Given the description of an element on the screen output the (x, y) to click on. 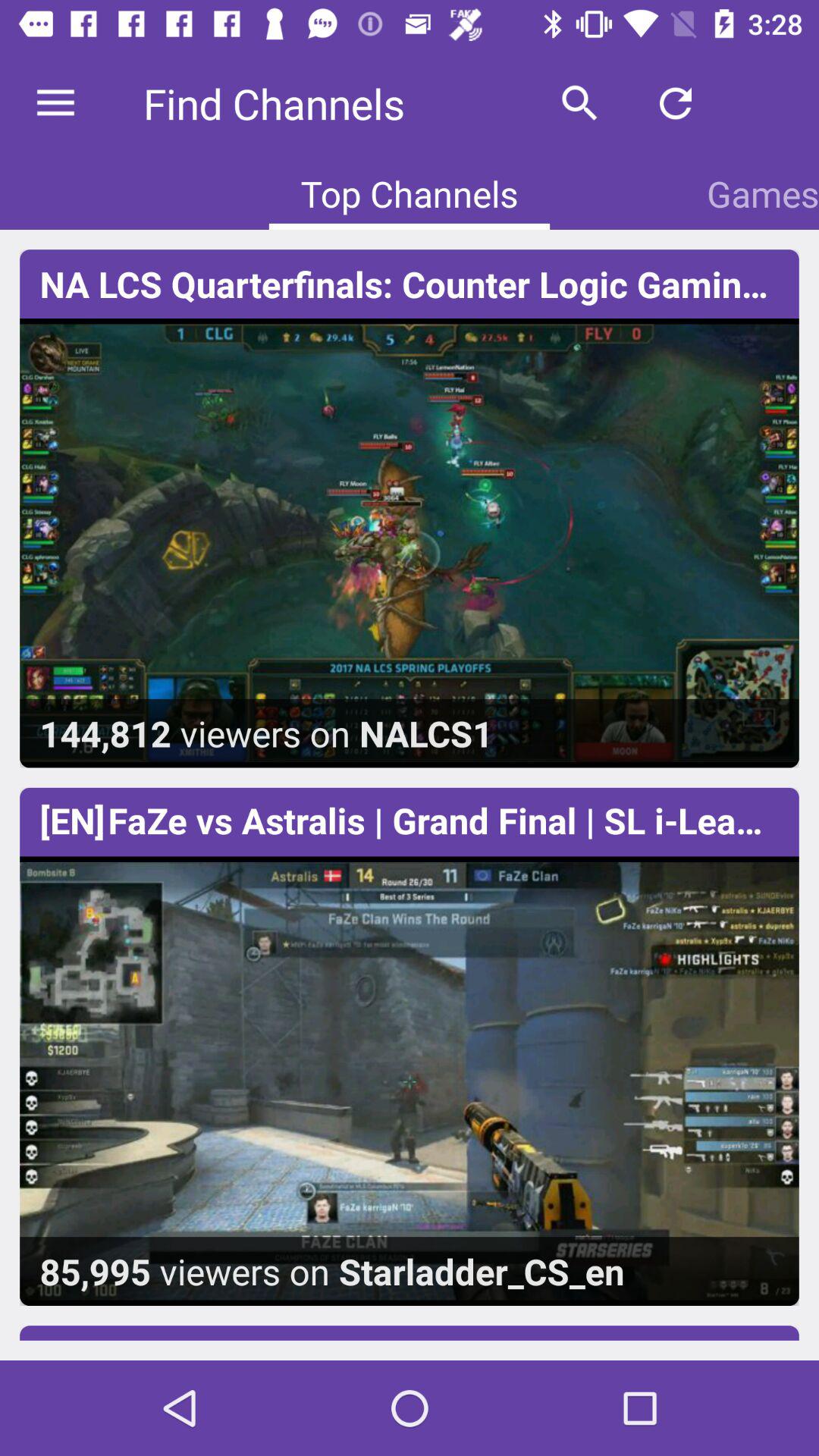
turn off the item to the left of find channels icon (55, 103)
